Given the description of an element on the screen output the (x, y) to click on. 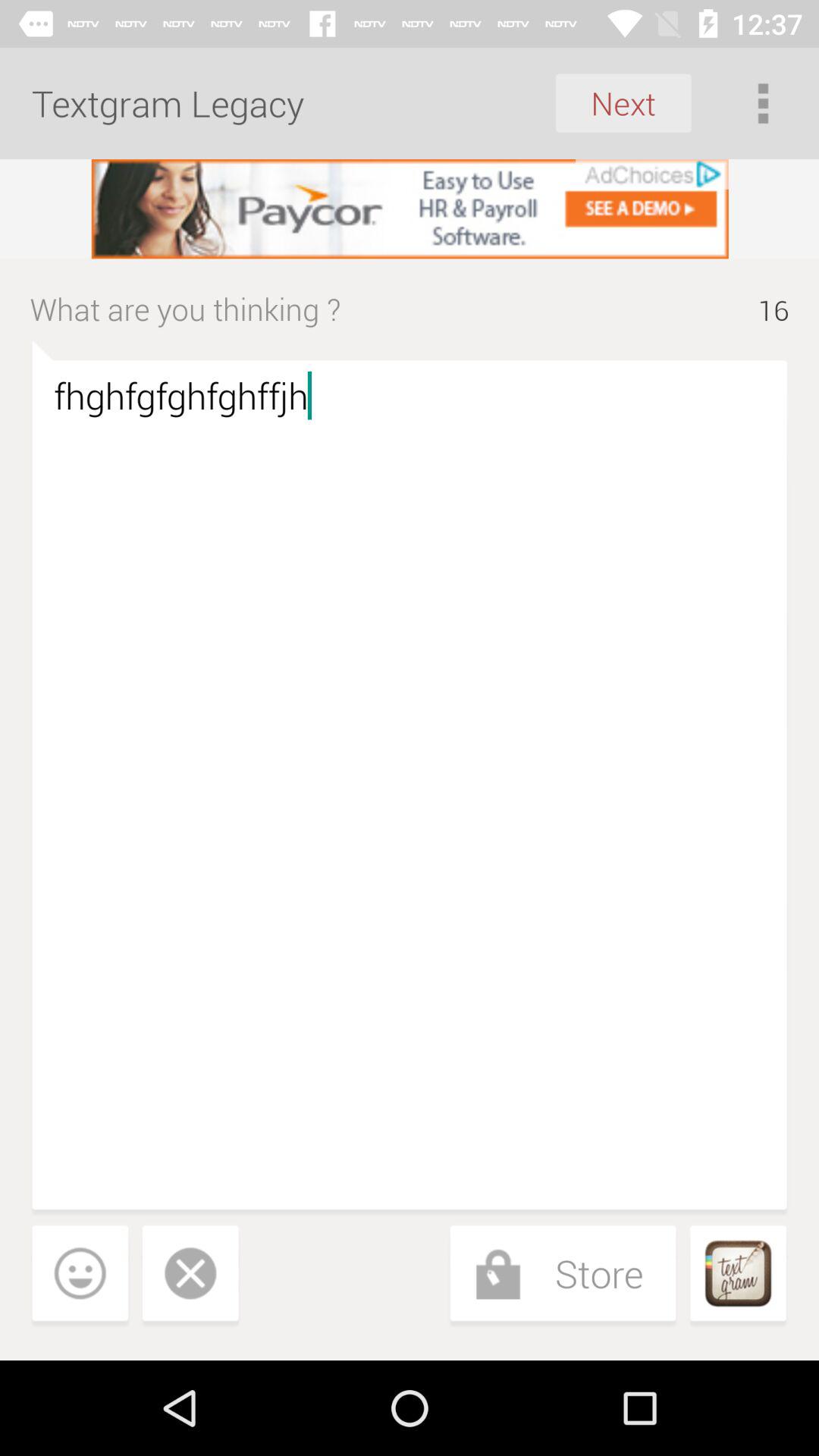
click icon bottom right (738, 1276)
